Given the description of an element on the screen output the (x, y) to click on. 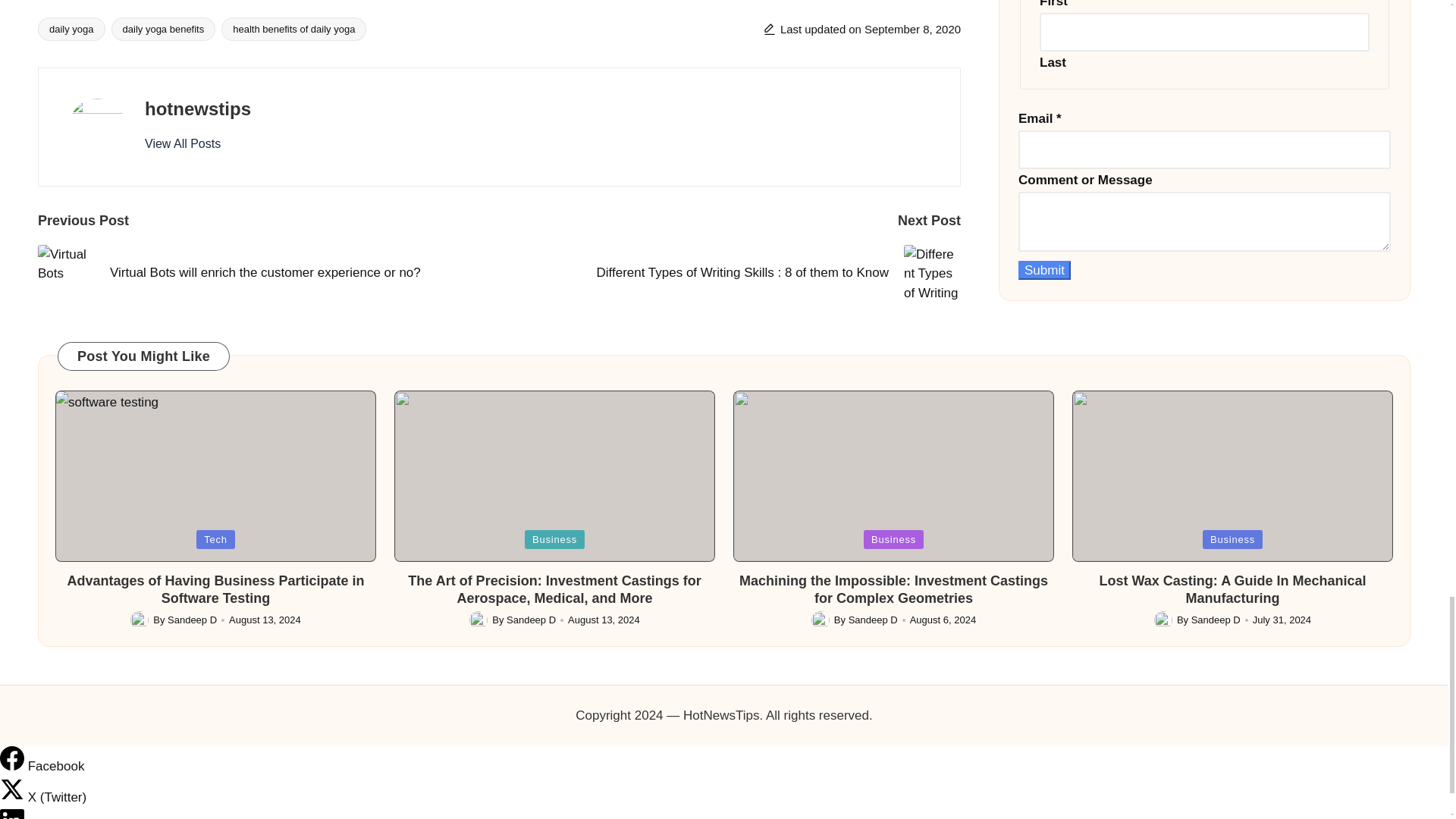
View all posts by Sandeep D (191, 619)
View all posts by Sandeep D (531, 619)
View all posts by Sandeep D (873, 619)
View all posts by Sandeep D (1215, 619)
